Given the description of an element on the screen output the (x, y) to click on. 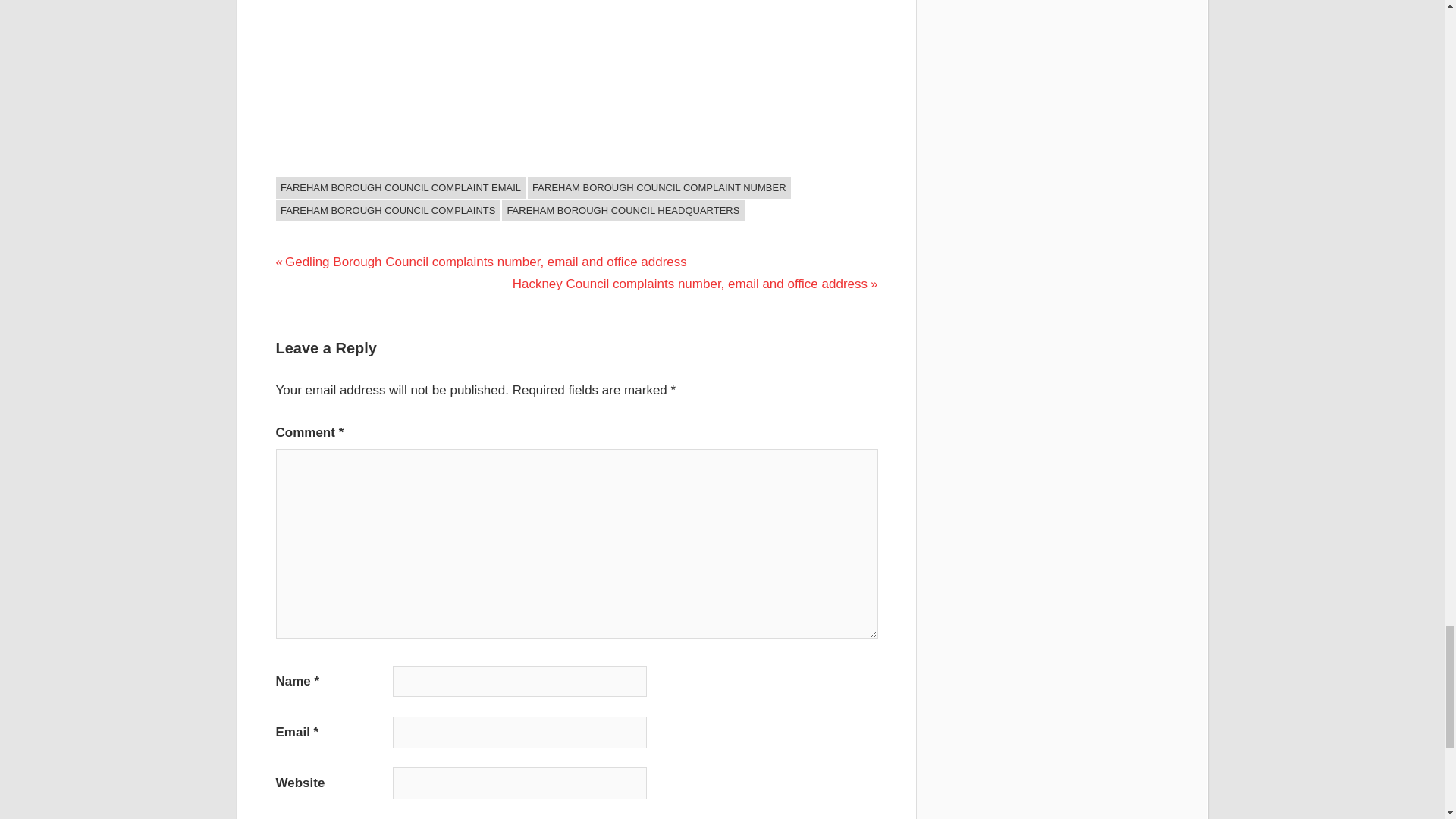
FAREHAM BOROUGH COUNCIL COMPLAINT NUMBER (658, 188)
FAREHAM BOROUGH COUNCIL COMPLAINT EMAIL (400, 188)
COUNCIL (308, 190)
